Given the description of an element on the screen output the (x, y) to click on. 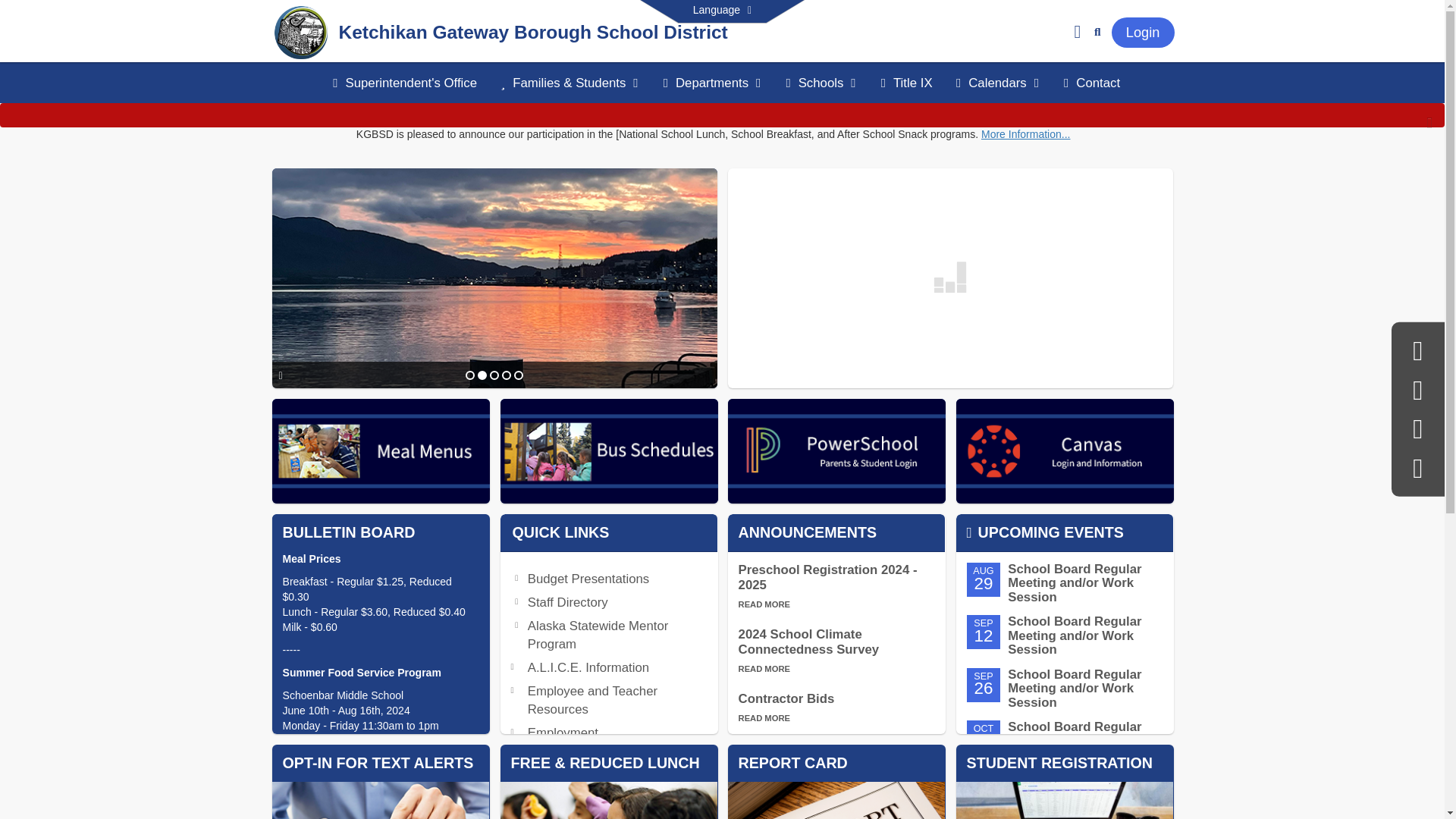
Contact (1091, 83)
Canvas (1064, 450)
Alaska Statewide Mentor Program (597, 635)
Ketchikan Gateway Borough School District (531, 34)
Ketchikan Gateway Borough School District (301, 31)
Departments (713, 83)
Immunization Information - Tagalog (602, 805)
Employment (562, 732)
Immunization Information - English (602, 765)
Title IX (906, 83)
